Given the description of an element on the screen output the (x, y) to click on. 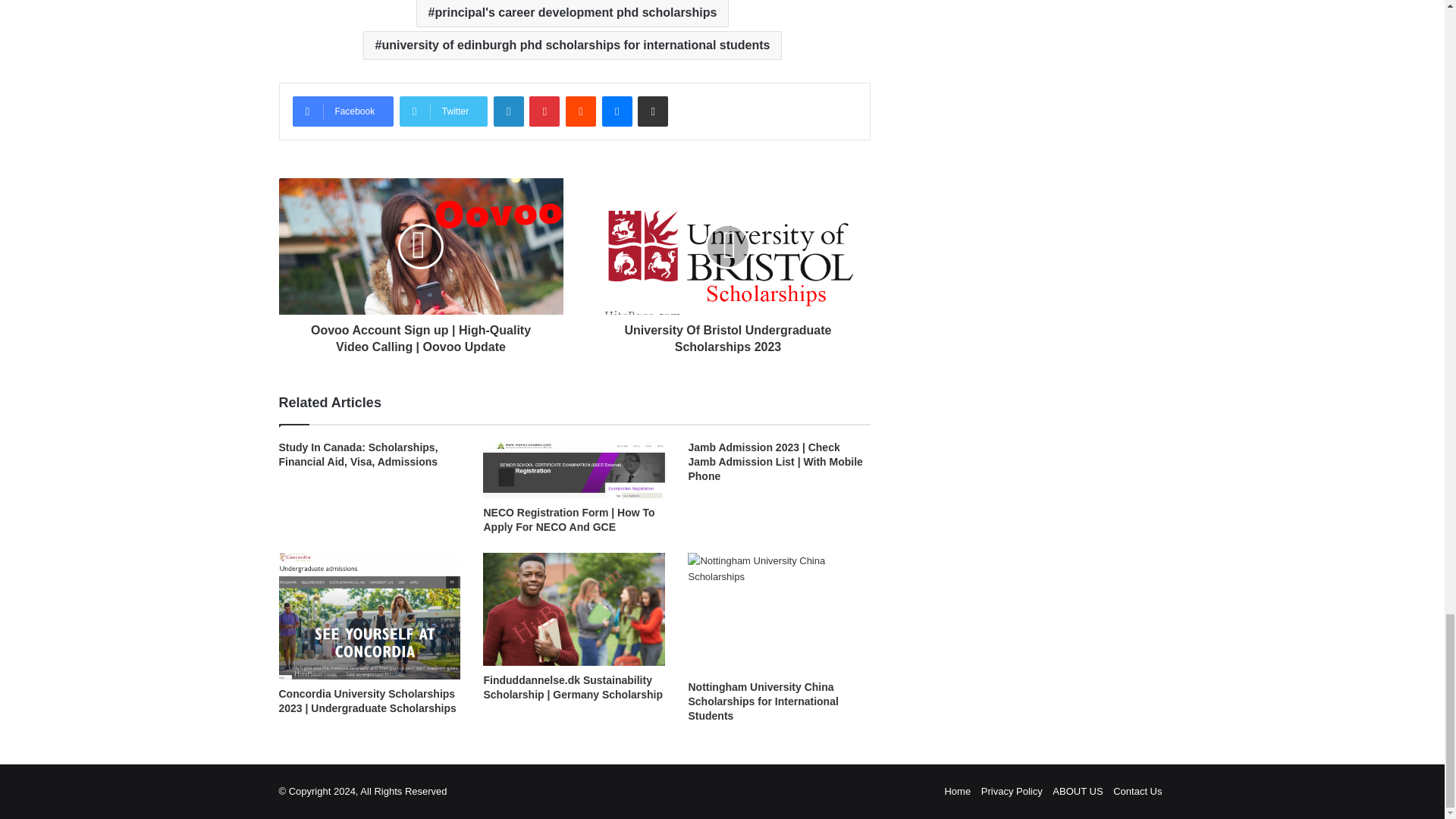
Facebook (343, 111)
Pinterest (544, 111)
Pinterest (544, 111)
principal's career development phd scholarships (572, 13)
Reddit (580, 111)
Twitter (442, 111)
Messenger (616, 111)
LinkedIn (508, 111)
Messenger (616, 111)
Share via Email (652, 111)
